Given the description of an element on the screen output the (x, y) to click on. 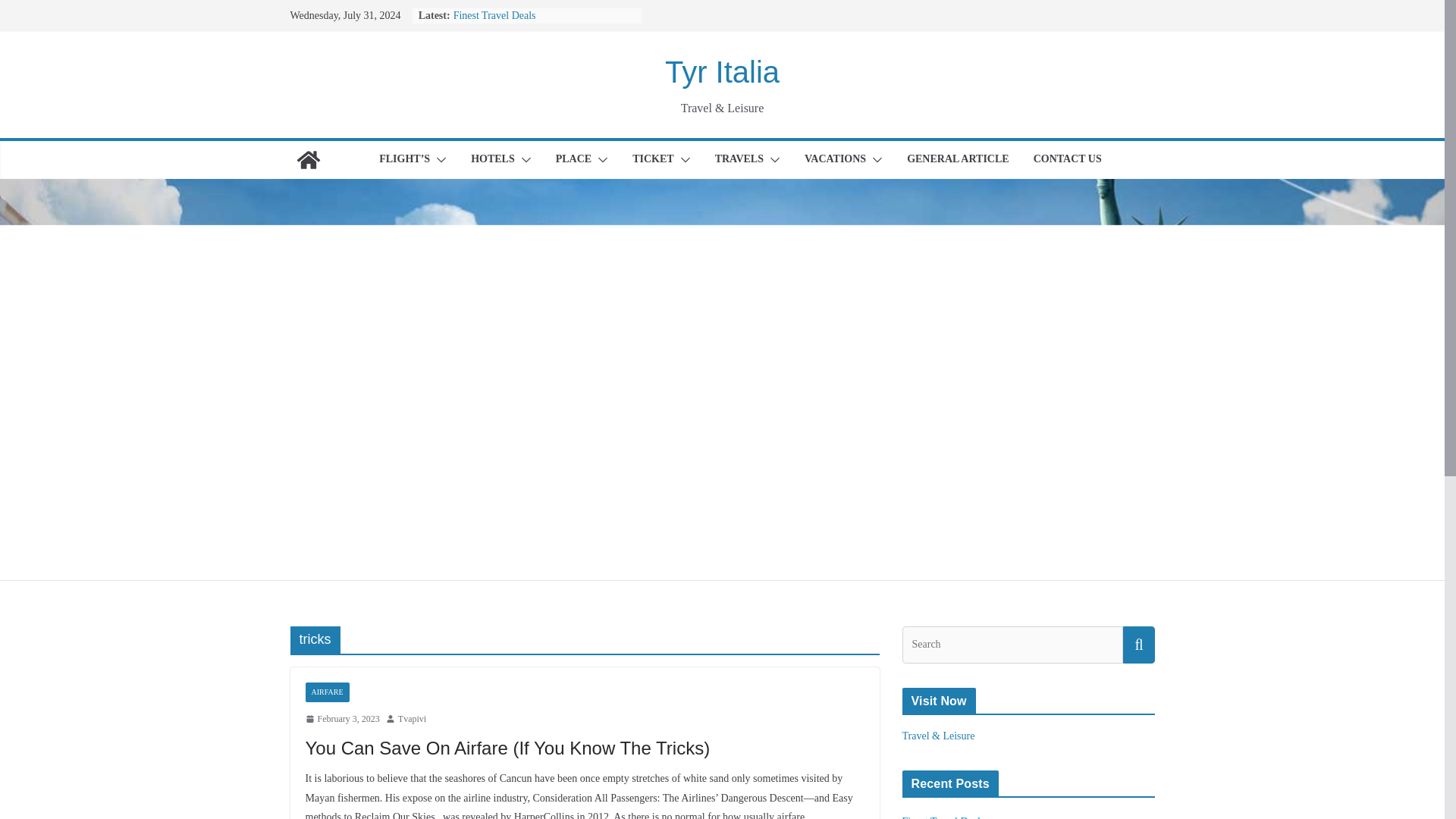
GENERAL ARTICLE (958, 159)
Tyr Italia (721, 71)
February 3, 2023 (341, 719)
PLACE (573, 159)
Finest Travel Deals (493, 15)
Tvapivi (411, 719)
5:27 pm (341, 719)
VACATIONS (835, 159)
Tyr Italia (721, 71)
Finest Travel Deals (493, 15)
HOTELS (492, 159)
TICKET (651, 159)
CONTACT US (1067, 159)
Tvapivi (411, 719)
Tyr Italia (307, 159)
